Given the description of an element on the screen output the (x, y) to click on. 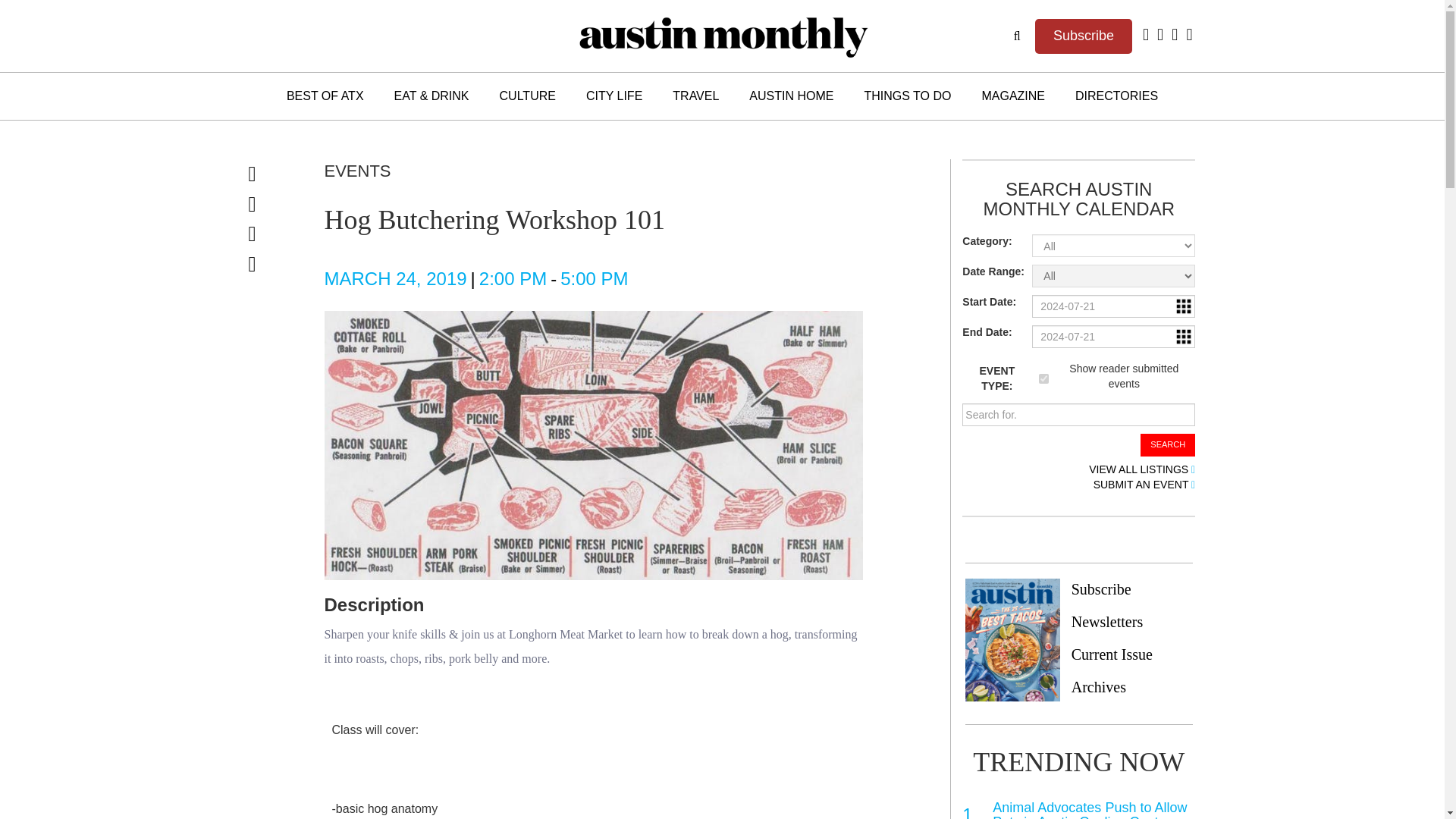
SUBMIT AN EVENT (1144, 485)
Austin Monthly Magazine (721, 35)
AUSTIN HOME (790, 95)
TRAVEL (695, 95)
on (1043, 378)
SEARCH (1167, 445)
MAGAZINE (1012, 95)
VIEW ALL LISTINGS (1142, 469)
THINGS TO DO (907, 95)
BEST OF ATX (324, 95)
DIRECTORIES (1116, 95)
CITY LIFE (614, 95)
CULTURE (527, 95)
